Given the description of an element on the screen output the (x, y) to click on. 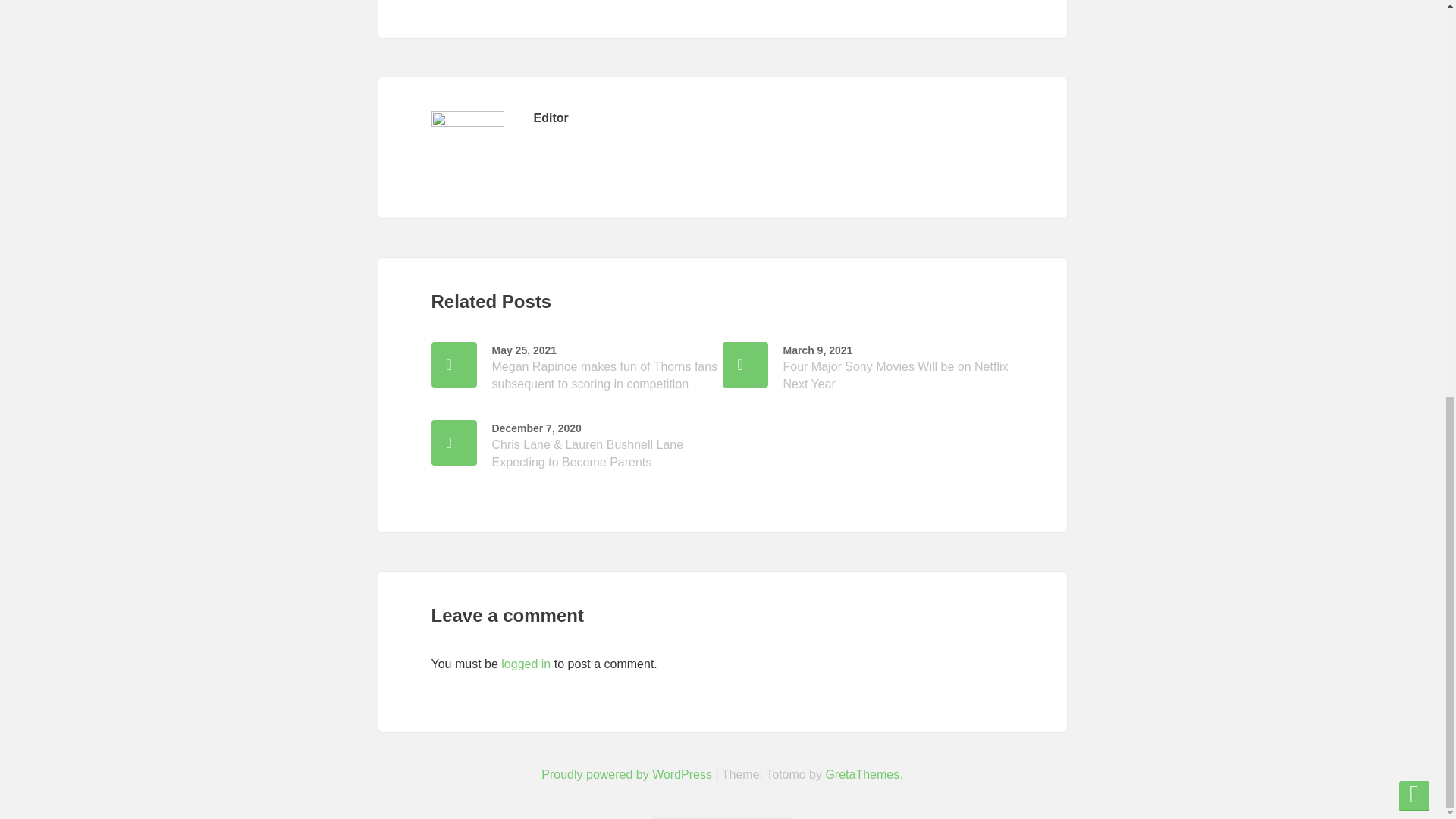
logged in (525, 663)
GretaThemes (862, 774)
Proudly powered by WordPress (626, 774)
